Given the description of an element on the screen output the (x, y) to click on. 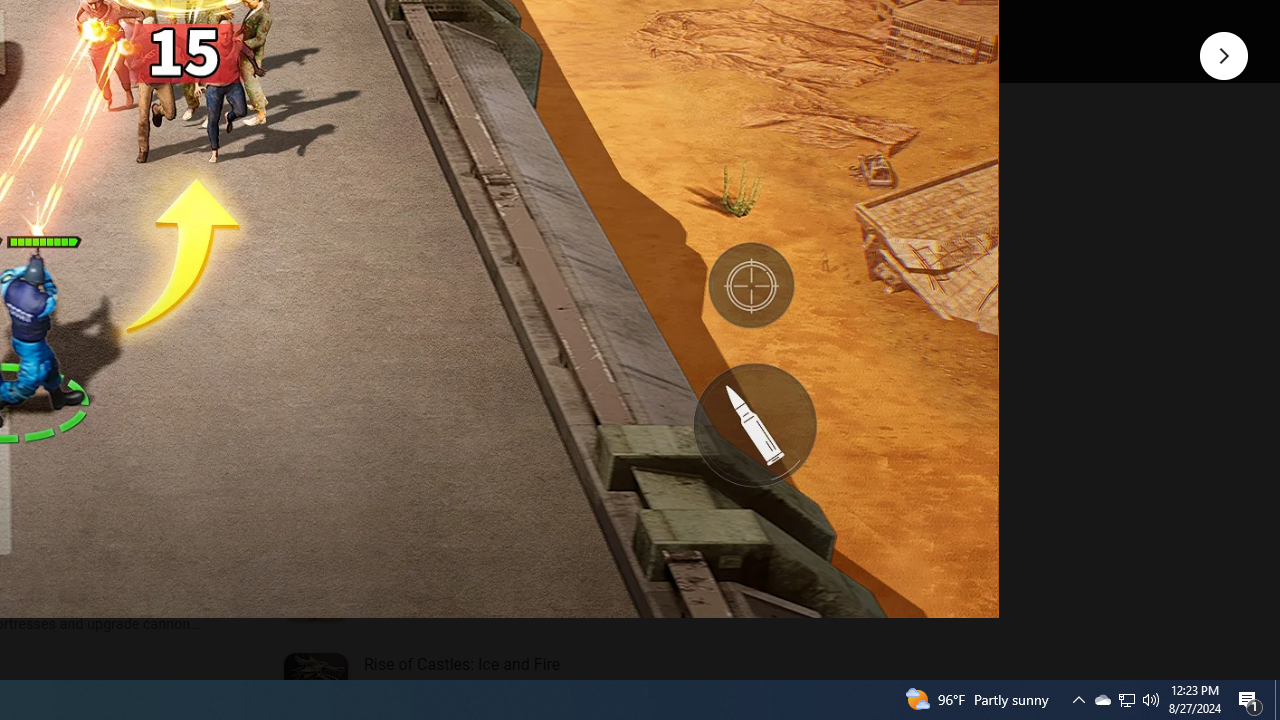
Expand (441, 155)
Scroll Next (212, 272)
See more information on Similar games (455, 229)
Play trailer (587, 24)
Next (1224, 54)
